Given the description of an element on the screen output the (x, y) to click on. 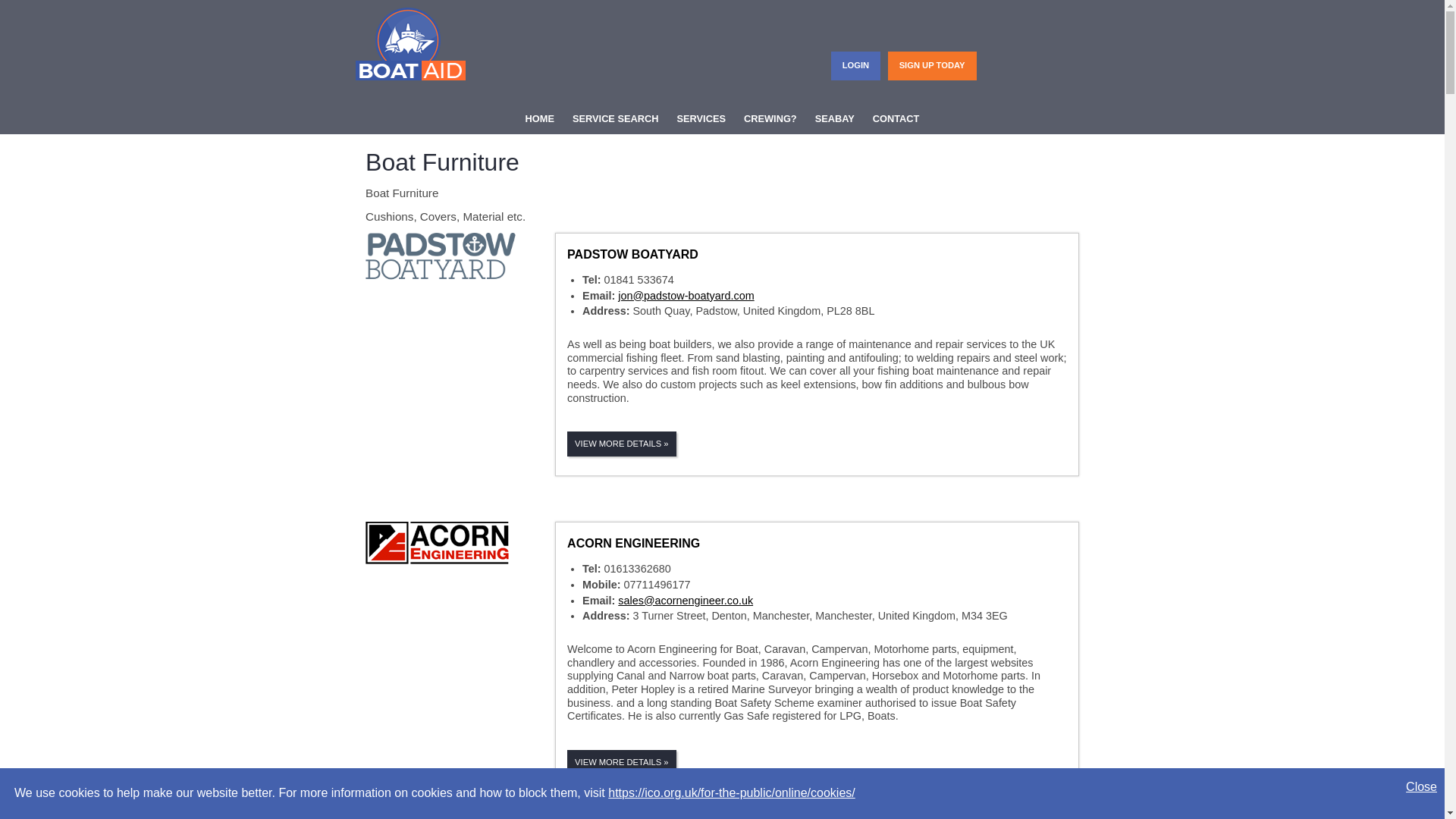
View Acorn Engineering (633, 543)
SERVICES (699, 119)
SERVICE SEARCH (615, 119)
SEABAY (834, 119)
Contact (895, 119)
CREWING? (770, 119)
View  Padstow Boatyard (632, 254)
CONTACT (895, 119)
ACORN ENGINEERING (633, 543)
PADSTOW BOATYARD (632, 254)
View  Padstow Boatyard (622, 443)
Service Search (615, 119)
SIGN UP TODAY (932, 64)
